Given the description of an element on the screen output the (x, y) to click on. 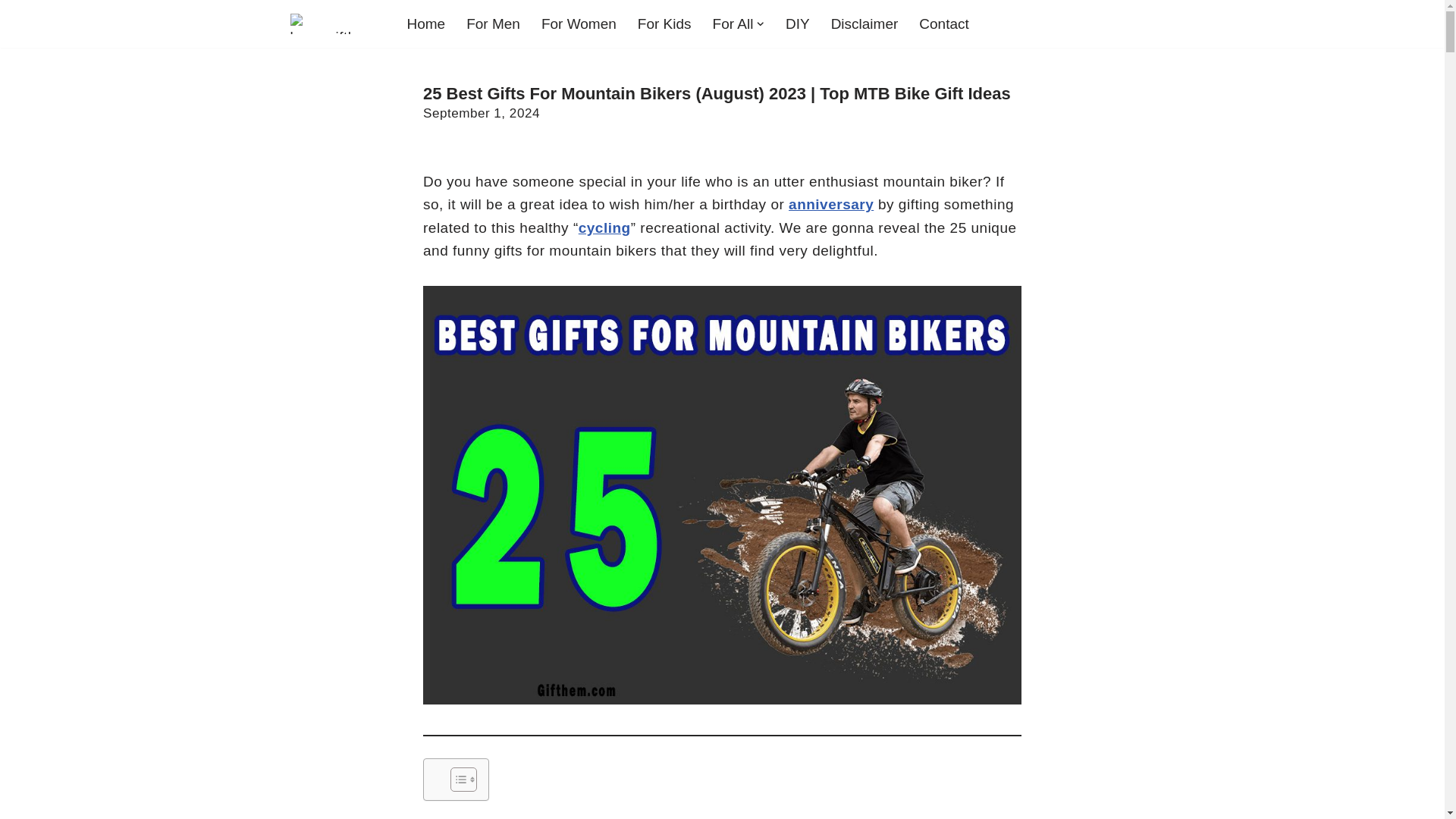
Skip to content (11, 31)
anniversary (831, 204)
Contact (943, 24)
DIY (797, 24)
Home (425, 24)
Disclaimer (864, 24)
For Kids (664, 24)
For Women (578, 24)
For All (733, 24)
cycling (604, 227)
